Given the description of an element on the screen output the (x, y) to click on. 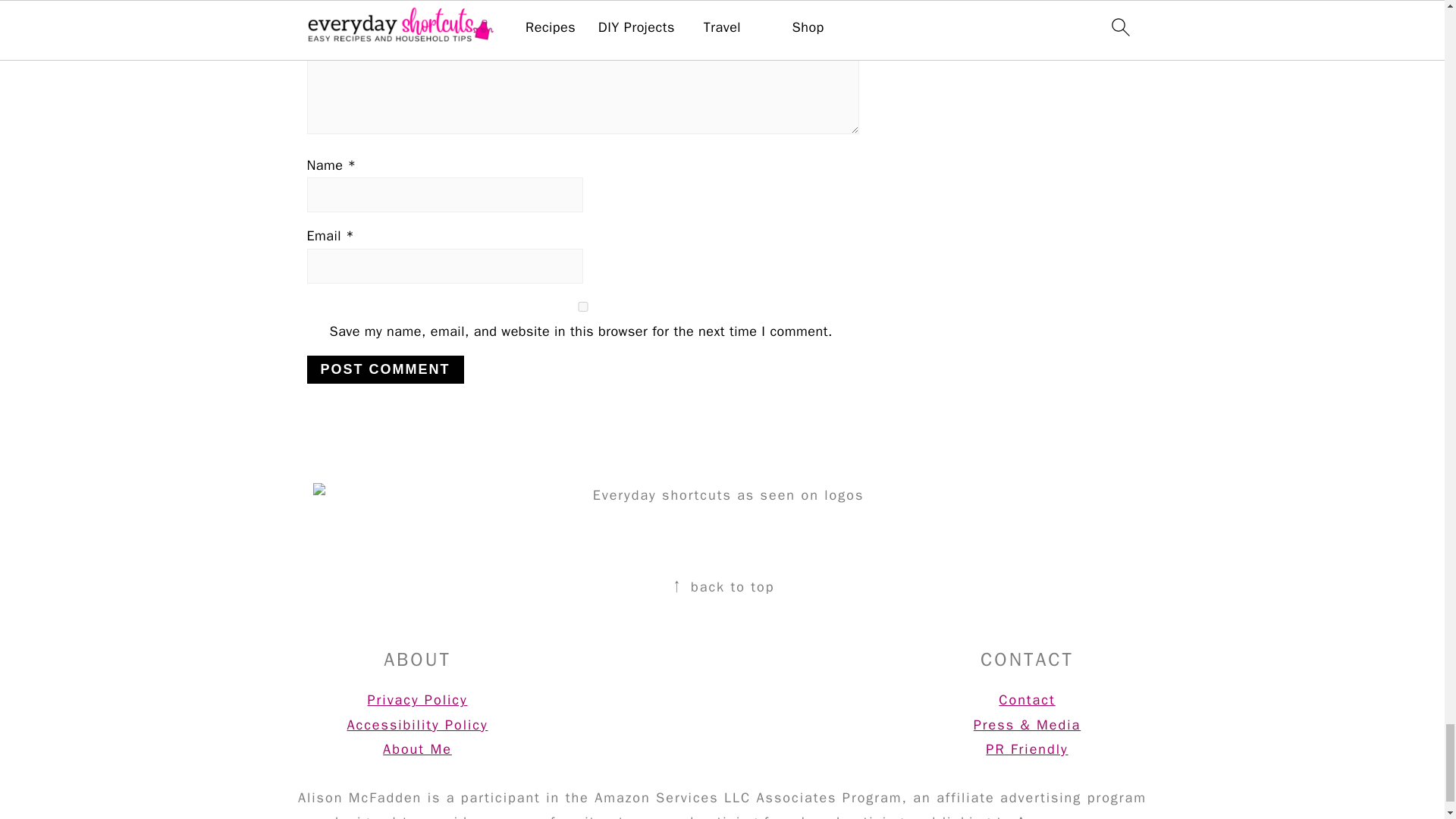
yes (582, 307)
Post Comment (384, 369)
